Given the description of an element on the screen output the (x, y) to click on. 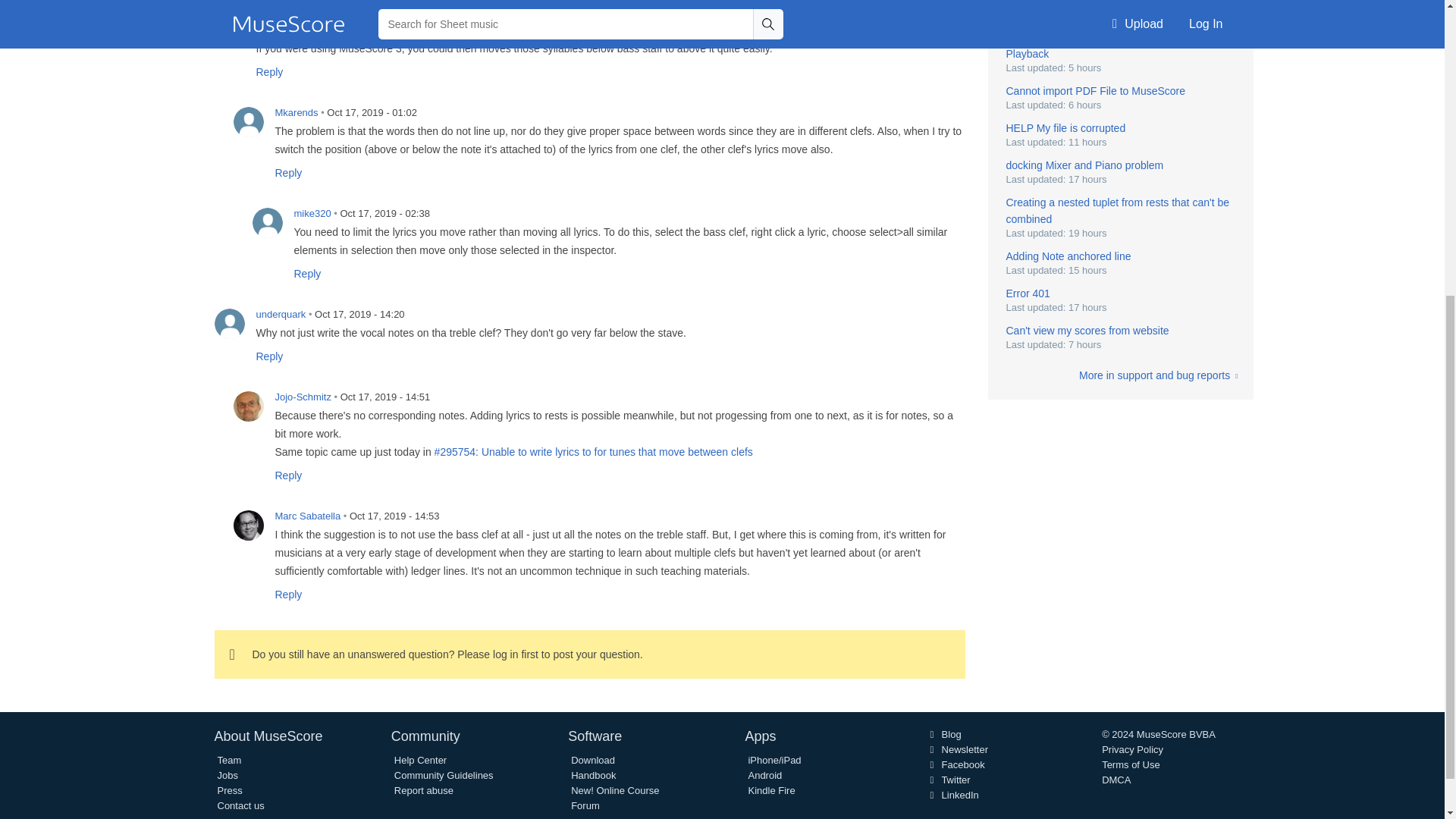
Status: active (592, 451)
Marc Sabatella (247, 525)
underquark (229, 323)
Mkarends (247, 122)
Jojo-Schmitz (247, 406)
Jojo-Schmitz (229, 4)
mike320 (266, 223)
